Given the description of an element on the screen output the (x, y) to click on. 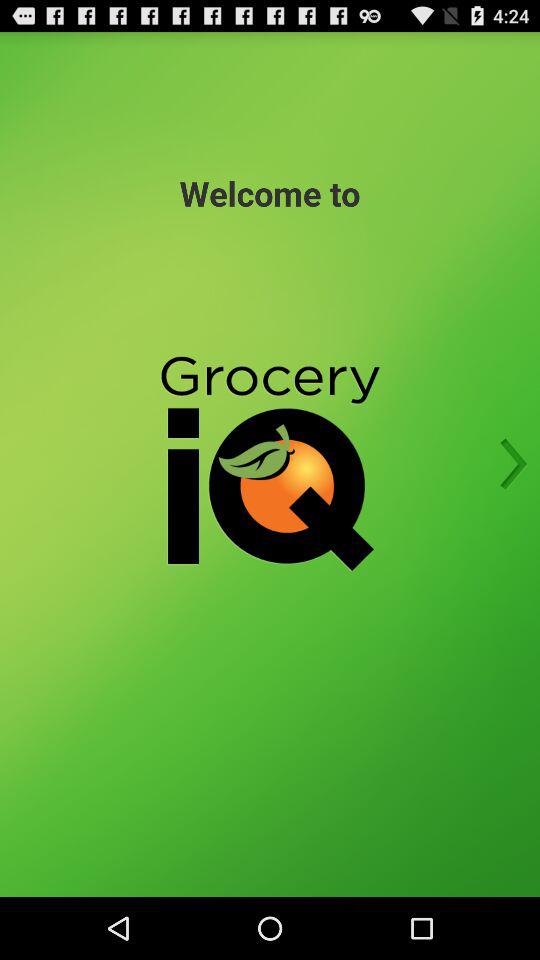
next screen (507, 464)
